Given the description of an element on the screen output the (x, y) to click on. 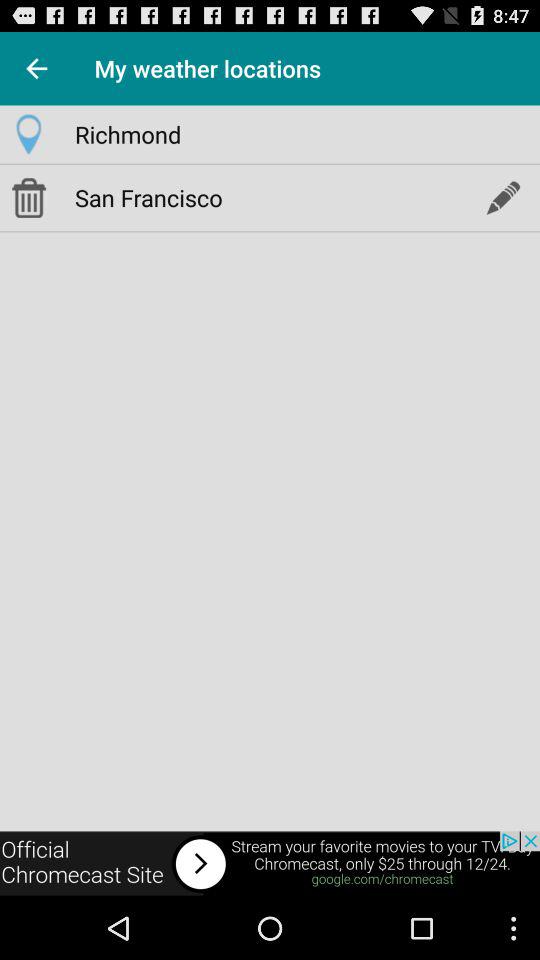
select the writing button (502, 197)
